Given the description of an element on the screen output the (x, y) to click on. 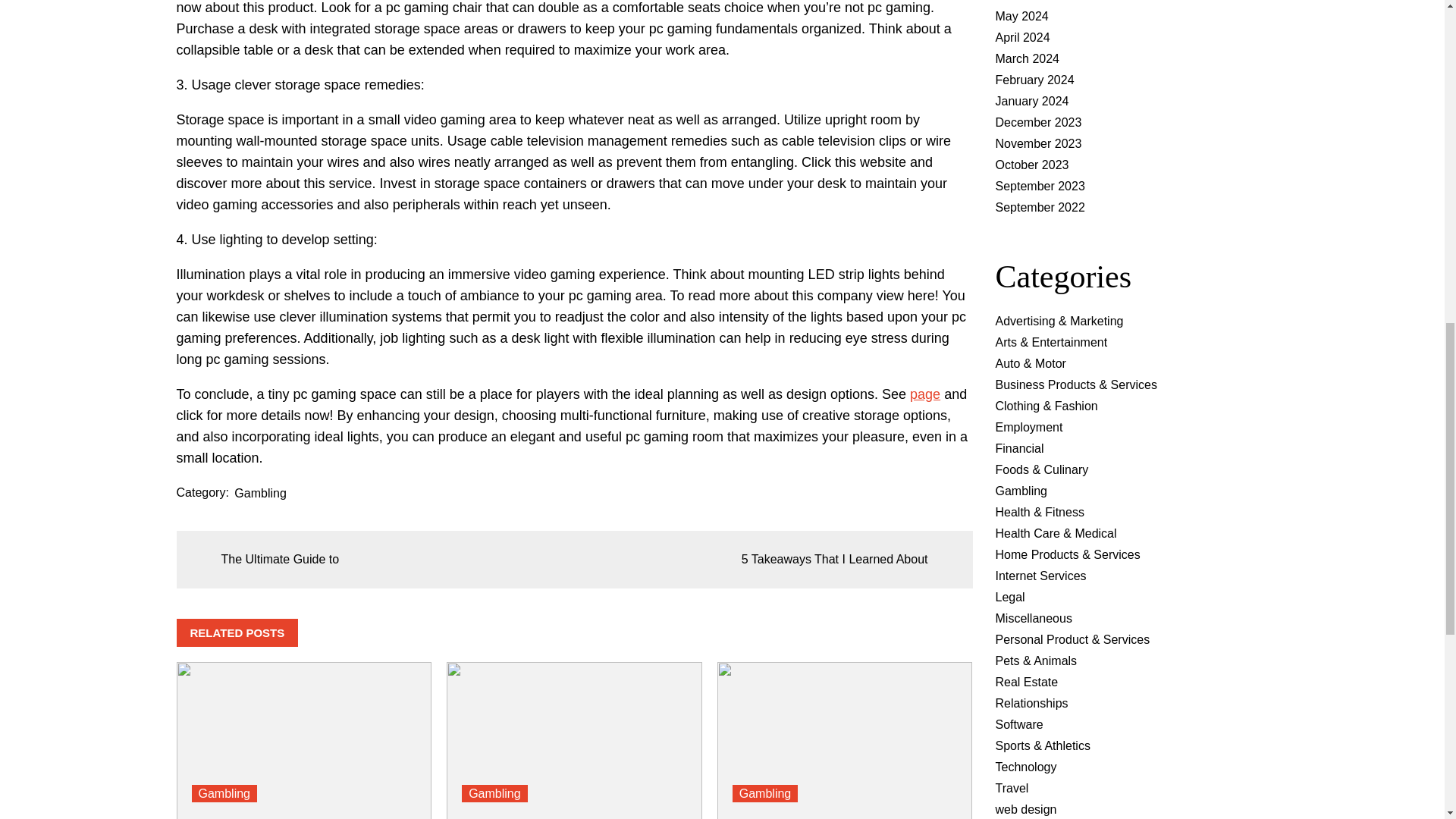
page (925, 394)
Gambling (259, 493)
October 2023 (1031, 164)
Gambling (494, 793)
December 2023 (1037, 122)
April 2024 (1021, 37)
January 2024 (1031, 101)
June 2024 (1022, 0)
Gambling (223, 793)
May 2024 (1021, 15)
